Given the description of an element on the screen output the (x, y) to click on. 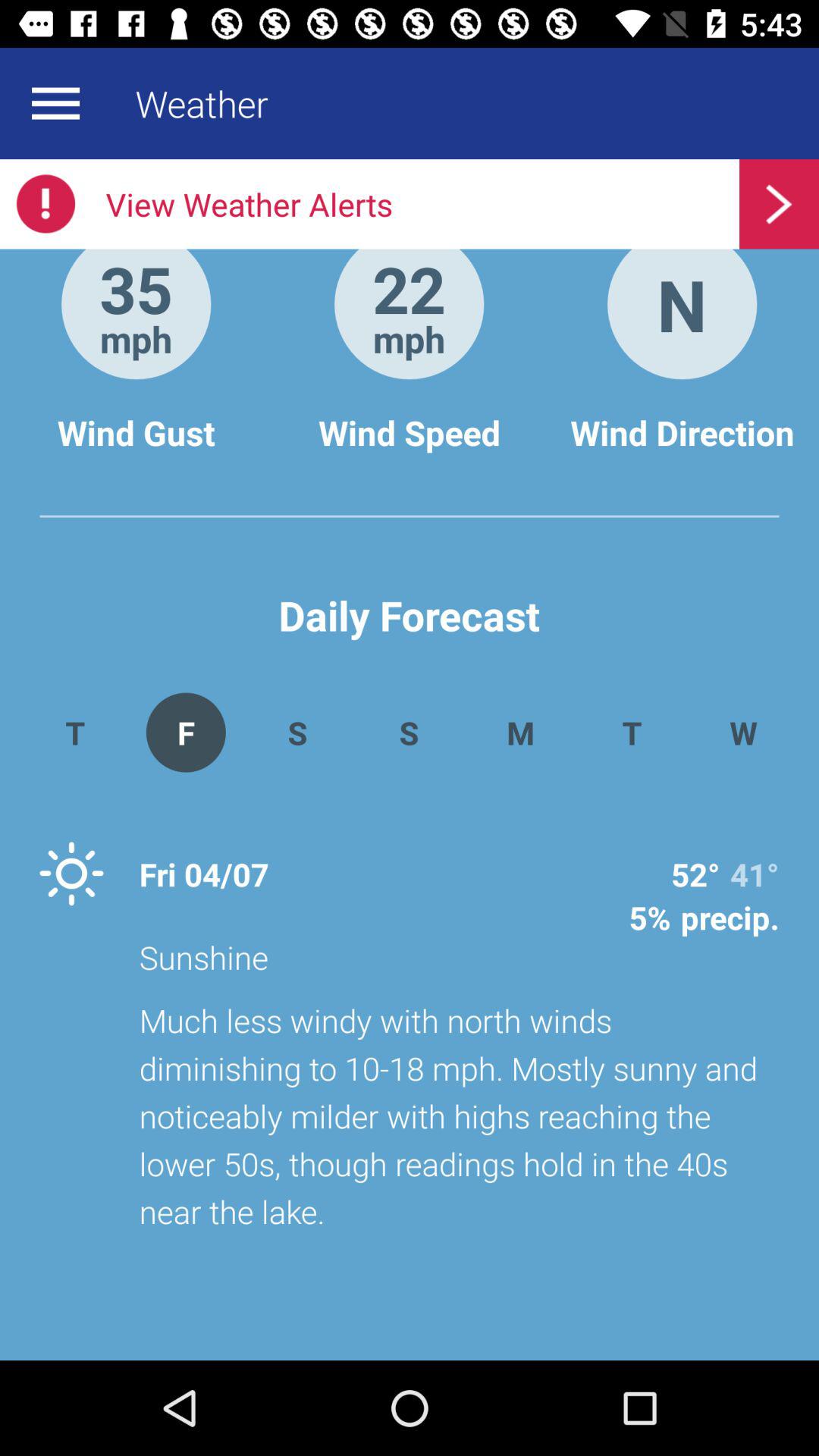
click the item to the right of t app (185, 732)
